Given the description of an element on the screen output the (x, y) to click on. 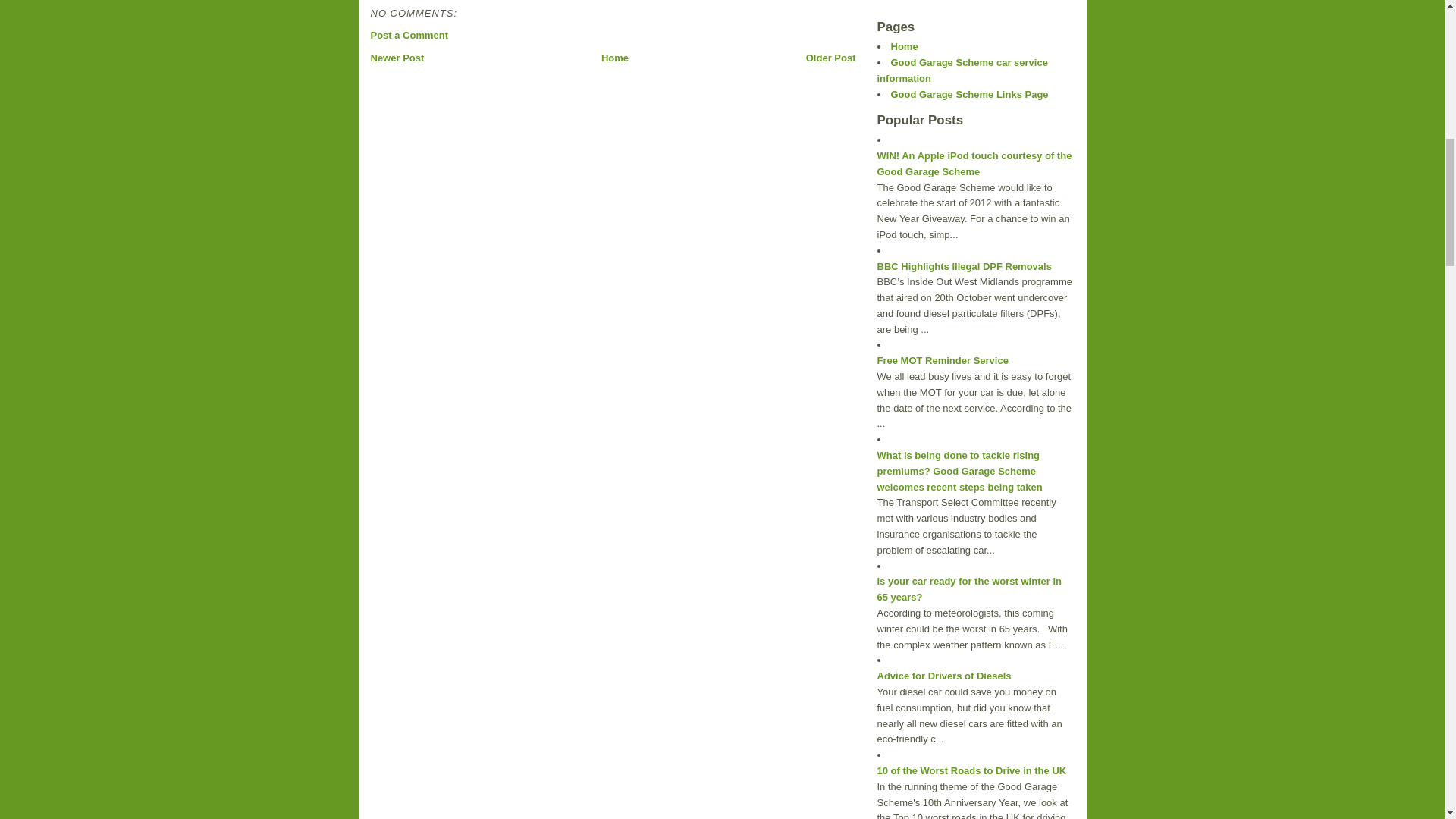
Older Post (831, 57)
Newer Post (396, 57)
Home (614, 57)
Post a Comment (408, 34)
Newer Post (396, 57)
Older Post (831, 57)
